Given the description of an element on the screen output the (x, y) to click on. 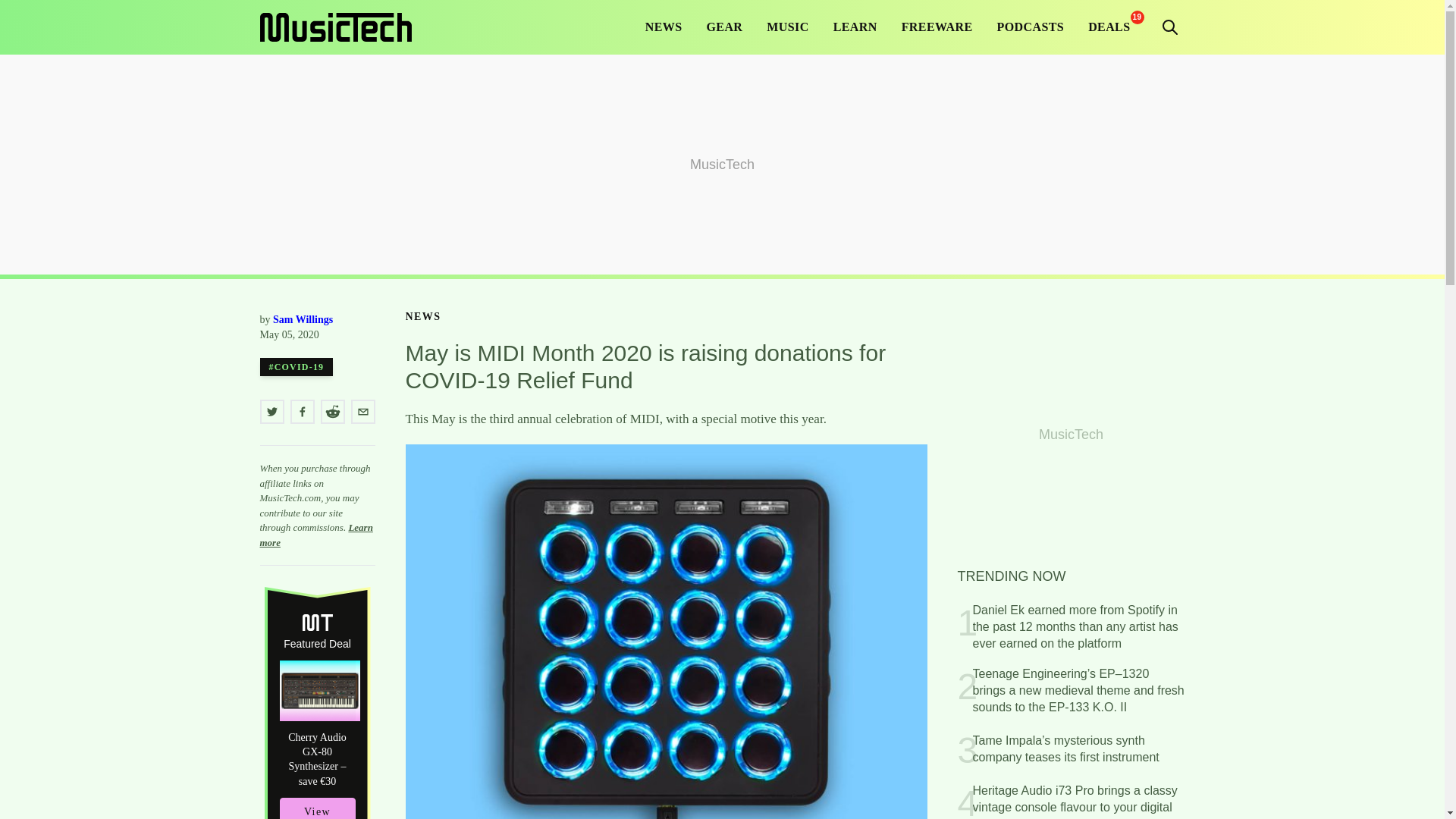
COVID-19 (296, 366)
Sam Willings (303, 319)
LEARN (855, 27)
PODCASTS (1030, 27)
MUSIC (786, 27)
MusicTech (334, 27)
Published May 4, 2020 6:17PM (316, 335)
Learn more (315, 534)
News (422, 316)
GEAR (724, 27)
